Given the description of an element on the screen output the (x, y) to click on. 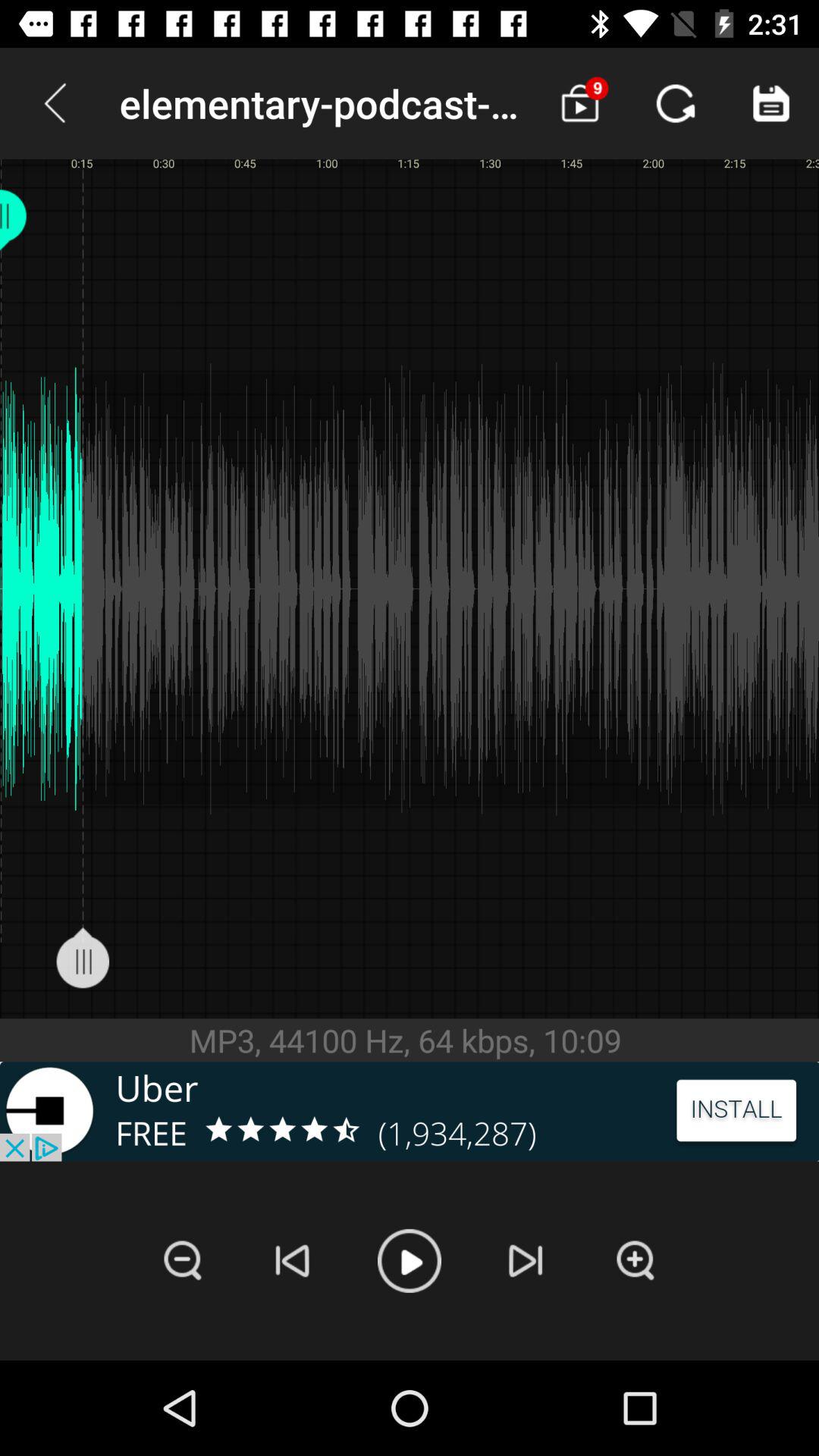
view advertisement (409, 1111)
